Given the description of an element on the screen output the (x, y) to click on. 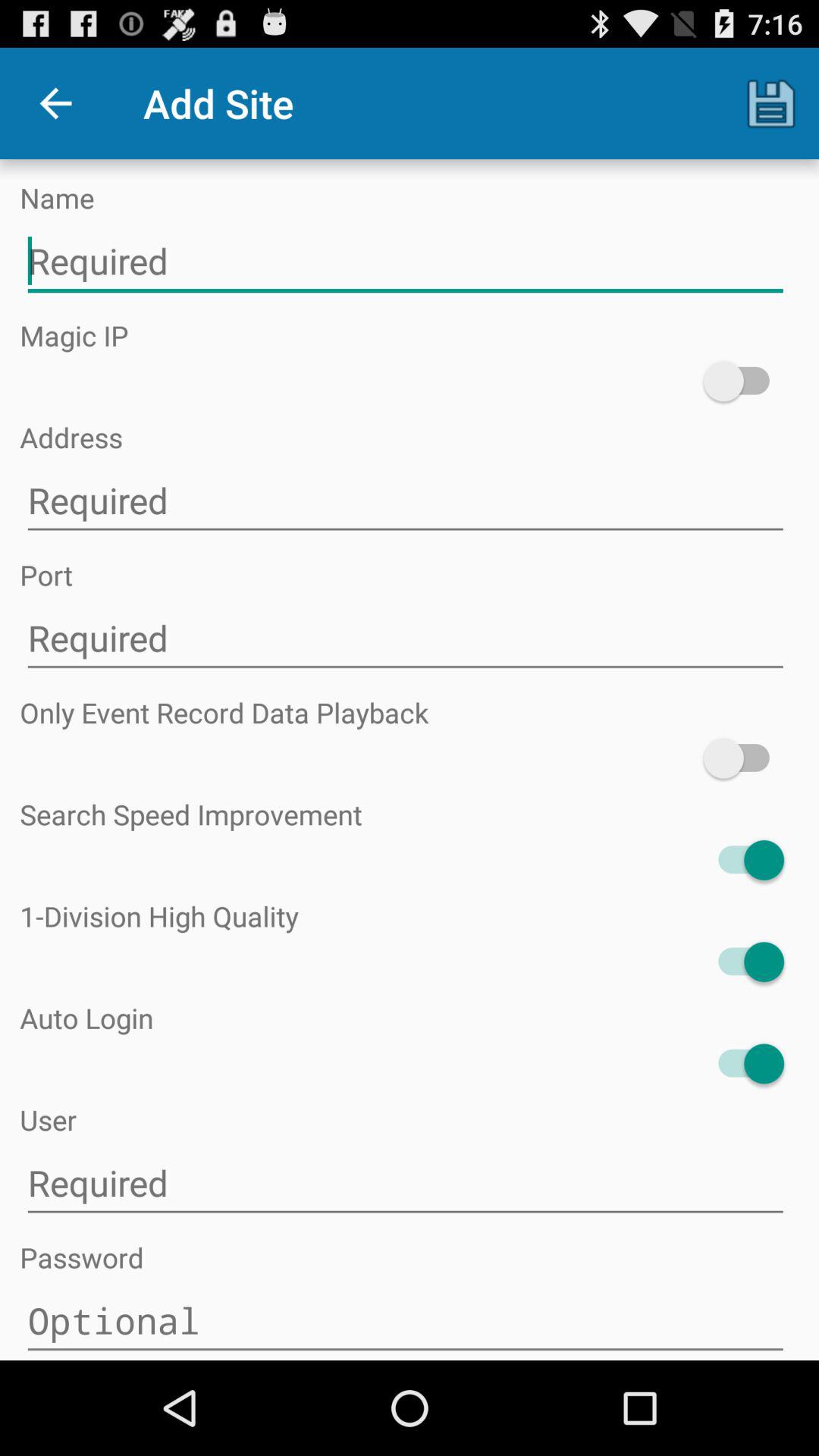
toggle 1-division high quality (743, 962)
